Given the description of an element on the screen output the (x, y) to click on. 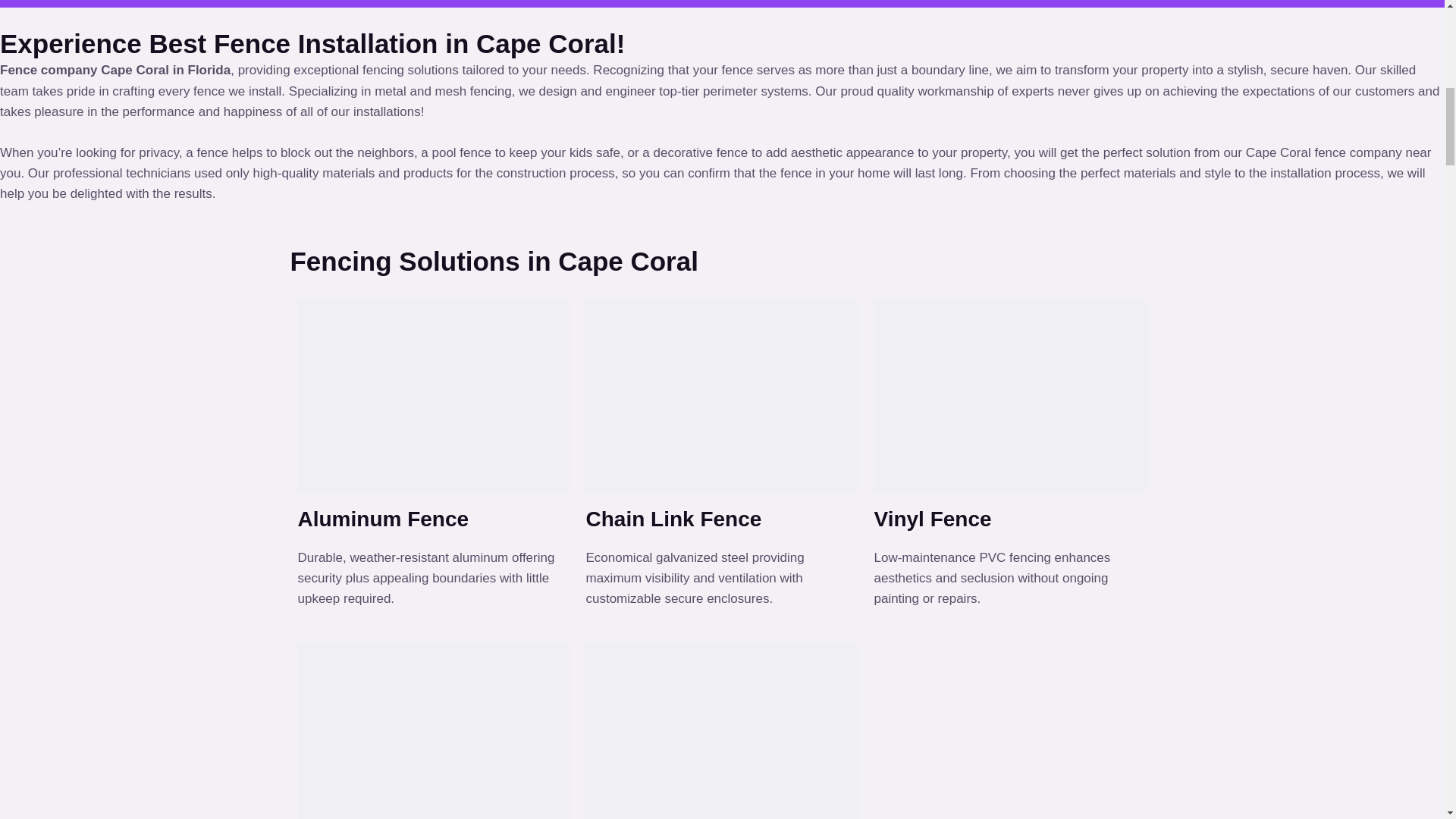
Aluminum Fence (382, 518)
Chain Link Fence (673, 518)
Vinyl Fence (932, 518)
